Given the description of an element on the screen output the (x, y) to click on. 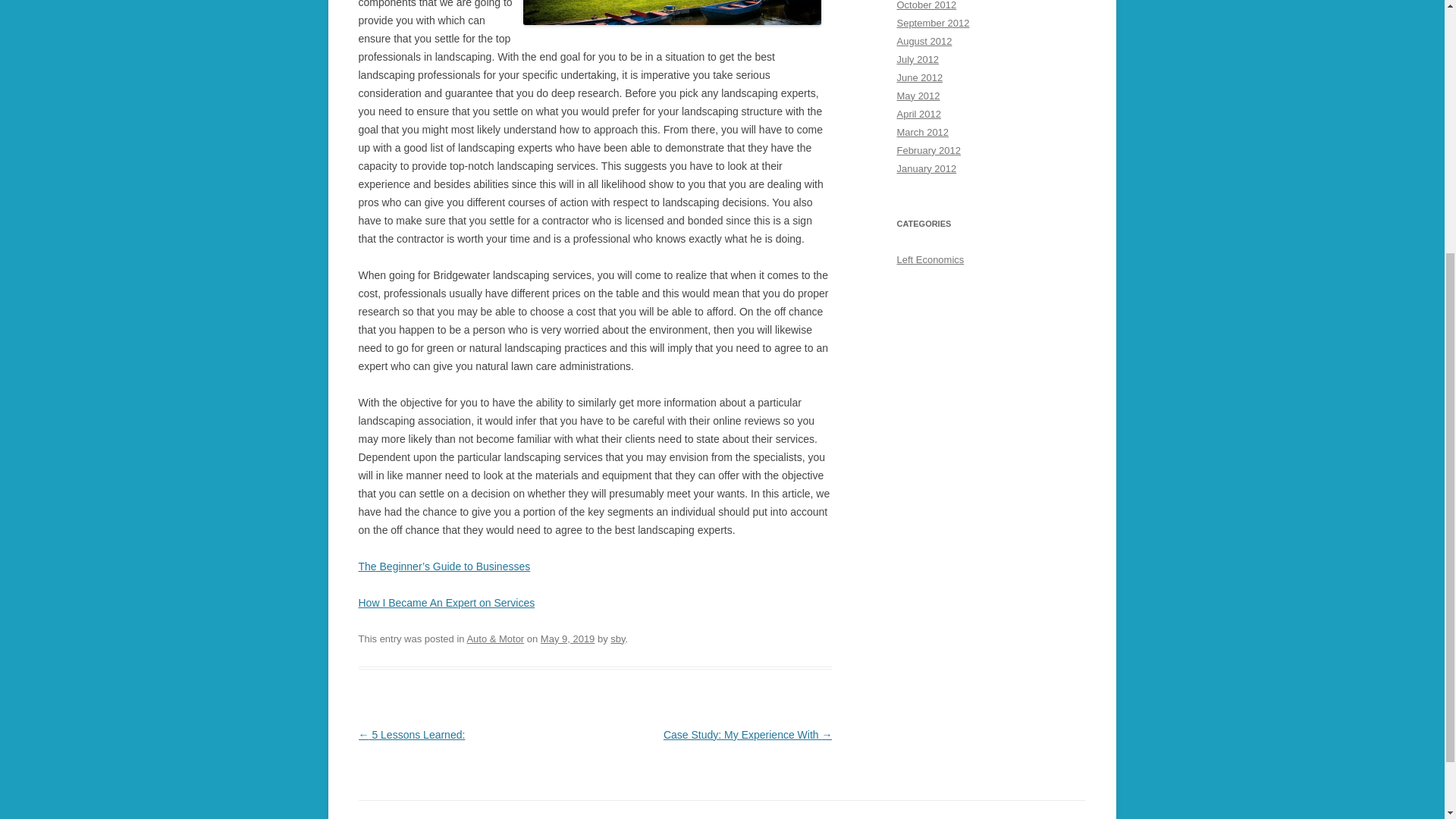
May 2012 (917, 95)
January 2012 (926, 168)
August 2012 (924, 41)
View all posts by sby (617, 638)
How I Became An Expert on Services (446, 603)
July 2012 (917, 59)
September 2012 (932, 22)
August 2012 (924, 41)
February 2012 (927, 150)
April 2012 (918, 113)
March 2012 (922, 132)
March 2012 (922, 132)
April 2012 (918, 113)
February 2012 (927, 150)
July 2012 (917, 59)
